Given the description of an element on the screen output the (x, y) to click on. 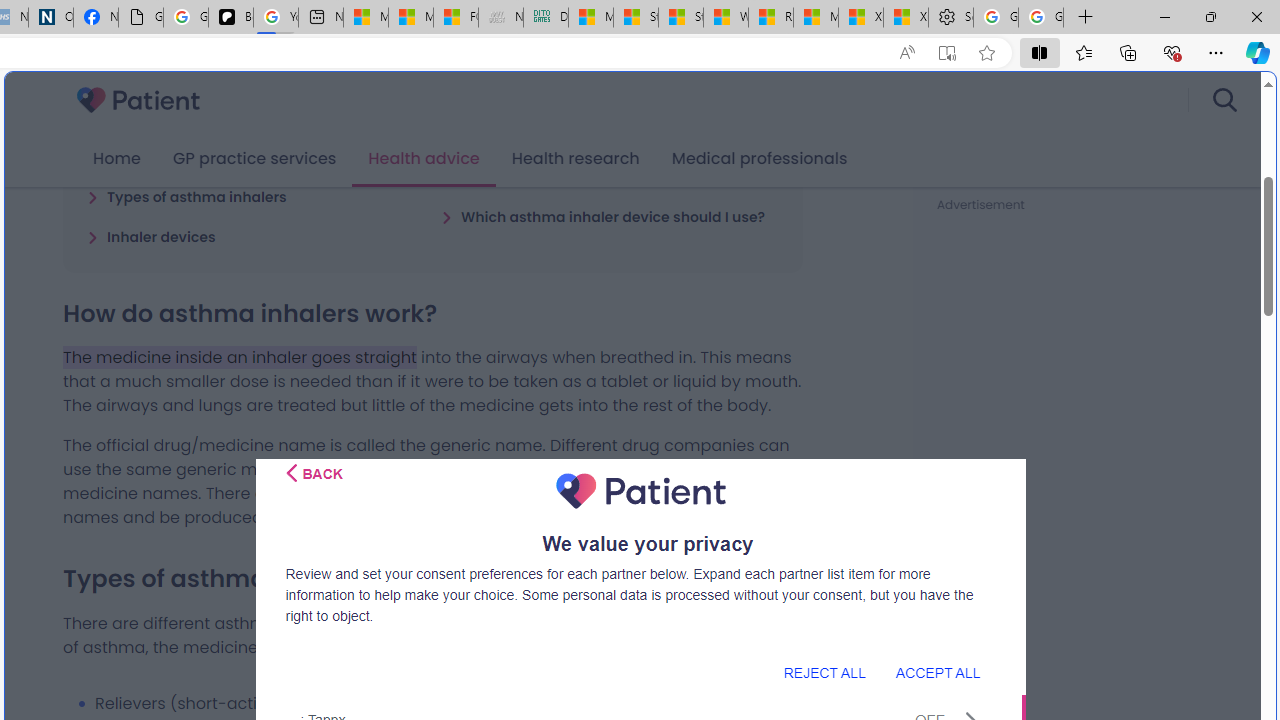
Medical professionals (759, 159)
How do asthma inhalers work? (206, 156)
Relievers (short-acting bronchodilators). (448, 703)
R******* | Trusted Community Engagement and Contributions (770, 17)
Class: css-i5klq5 (291, 473)
Publisher Logo (640, 491)
